Given the description of an element on the screen output the (x, y) to click on. 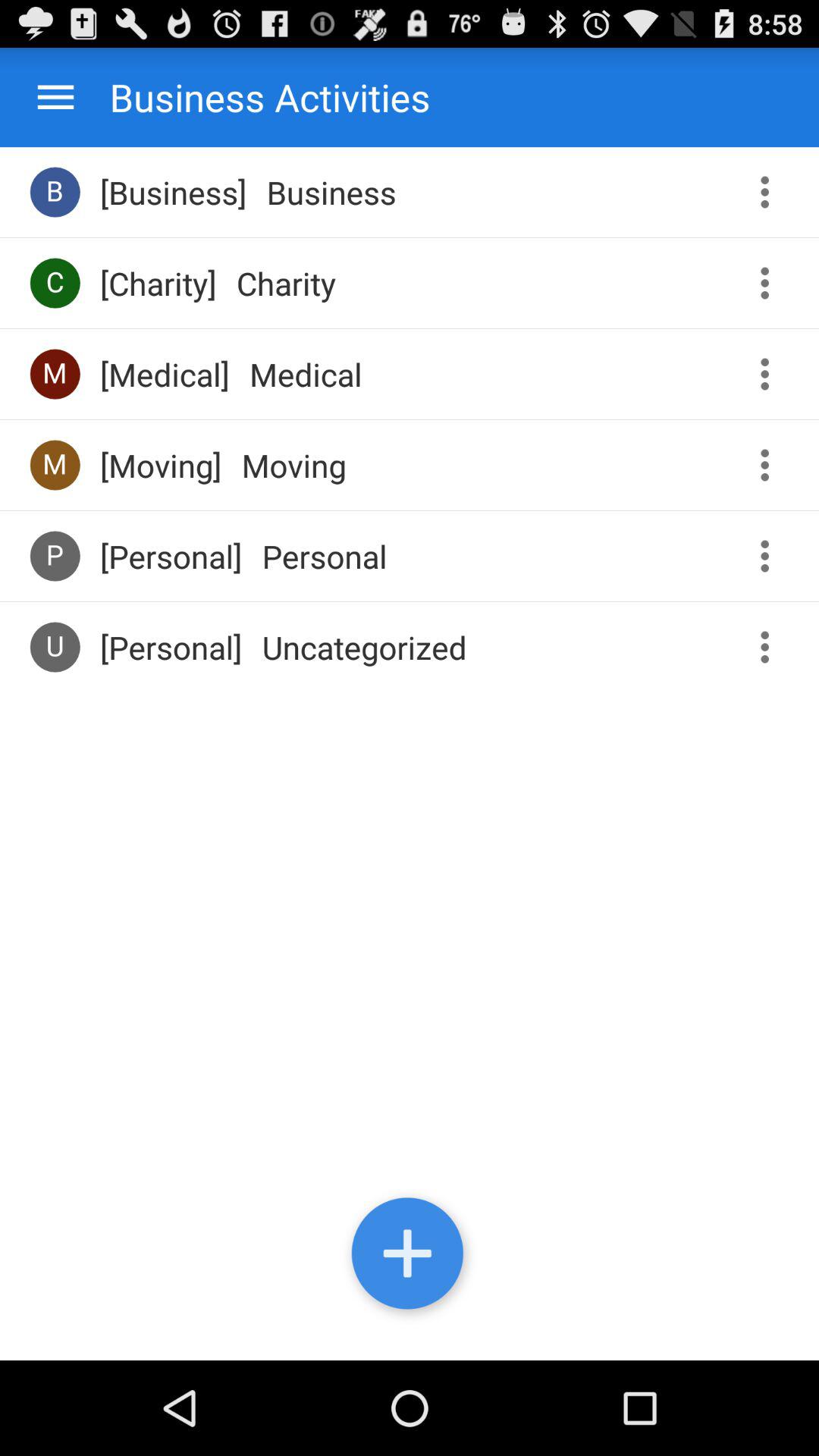
swipe until p app (54, 555)
